Given the description of an element on the screen output the (x, y) to click on. 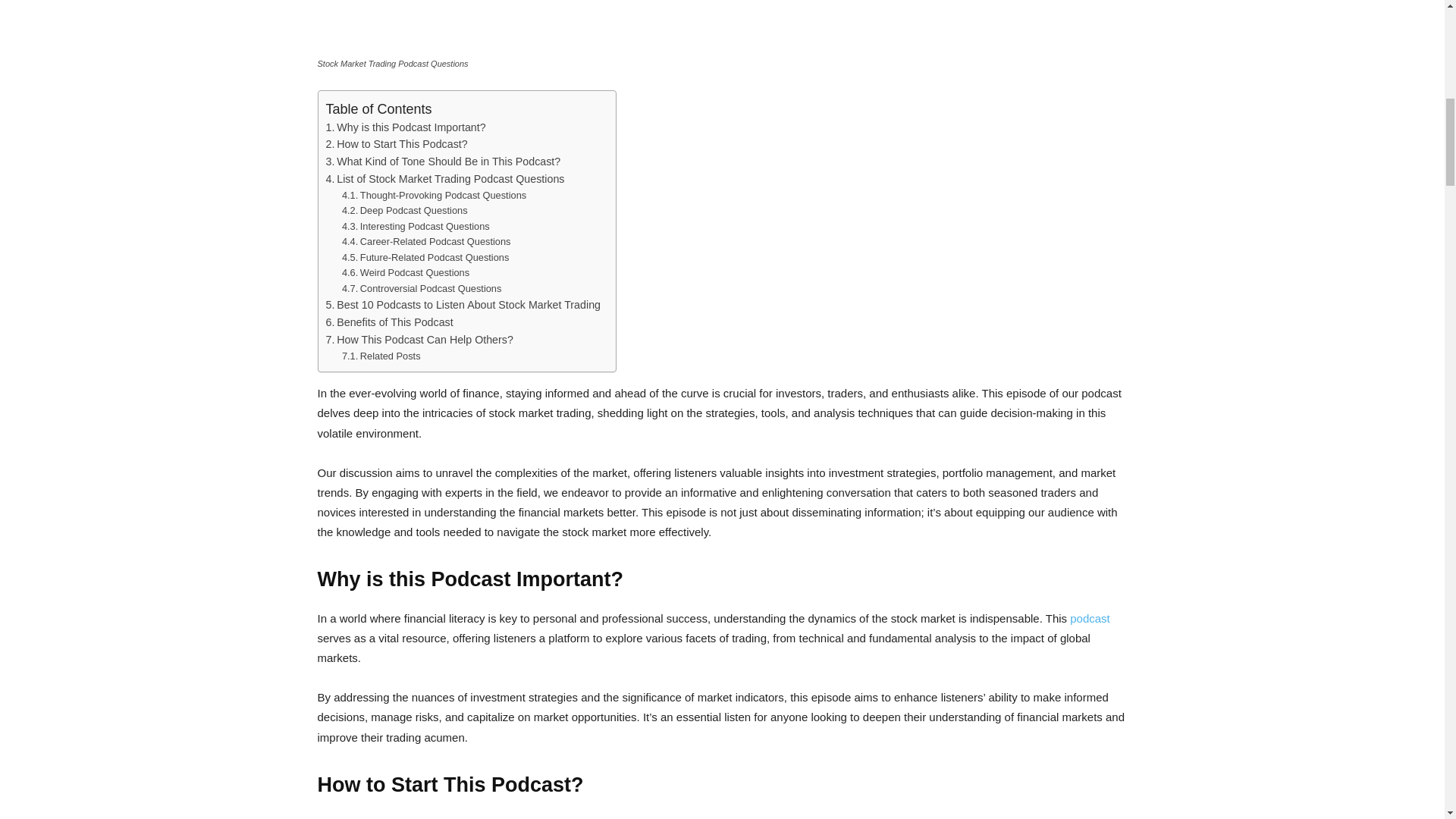
What Kind of Tone Should Be in This Podcast? (443, 161)
How to Start This Podcast? (396, 144)
Why is this Podcast Important? (406, 127)
